Given the description of an element on the screen output the (x, y) to click on. 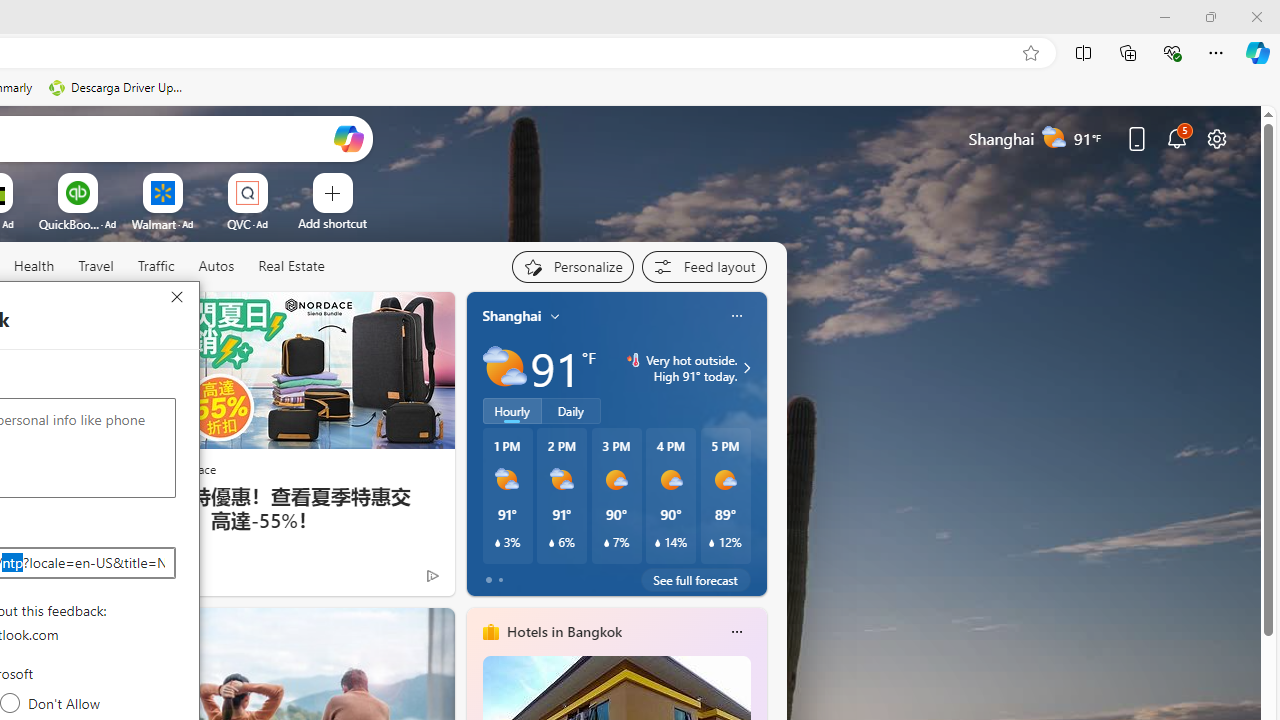
See full forecast (695, 579)
Feed settings (703, 266)
